Given the description of an element on the screen output the (x, y) to click on. 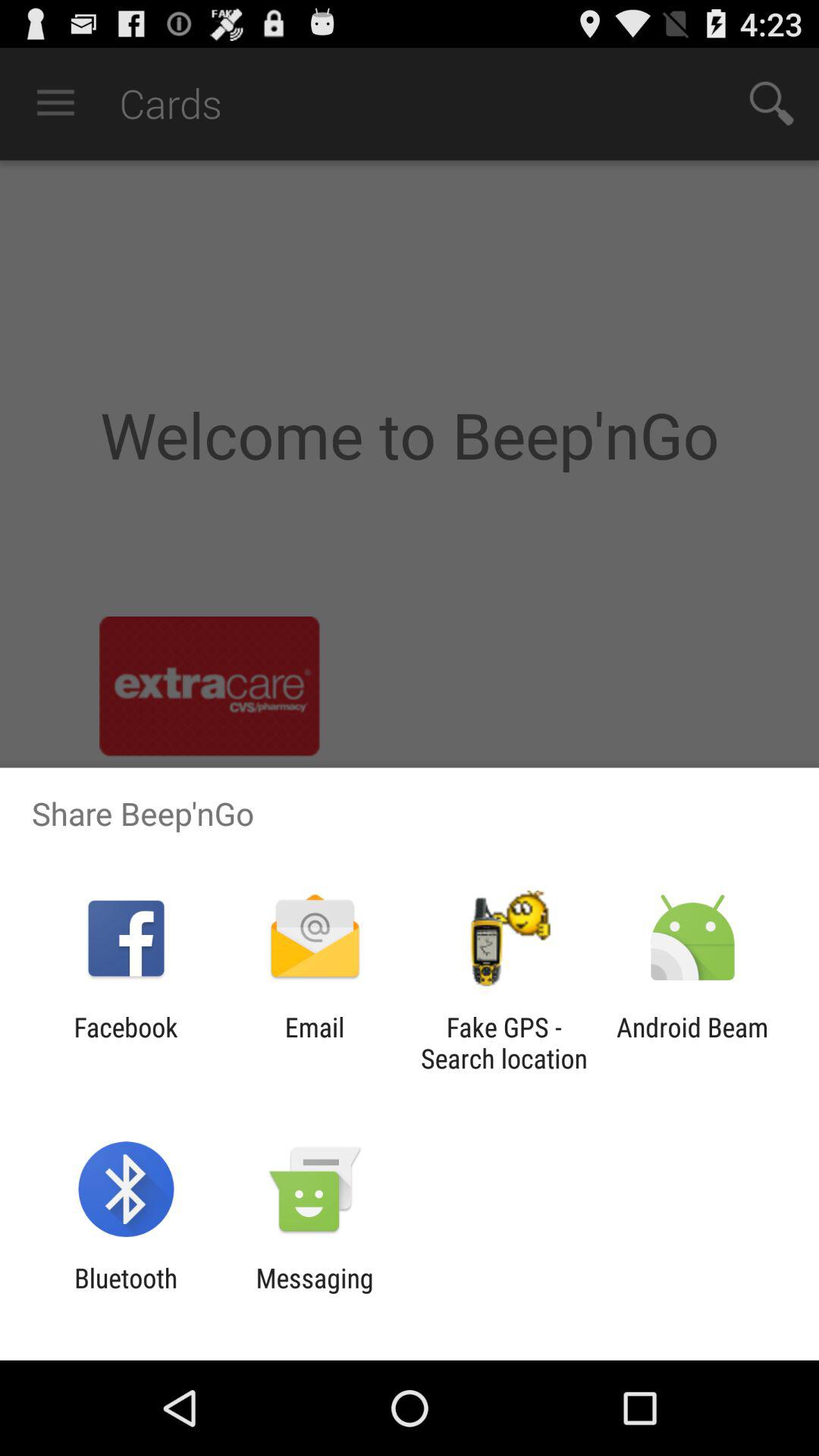
turn on the app to the right of the fake gps search app (692, 1042)
